Given the description of an element on the screen output the (x, y) to click on. 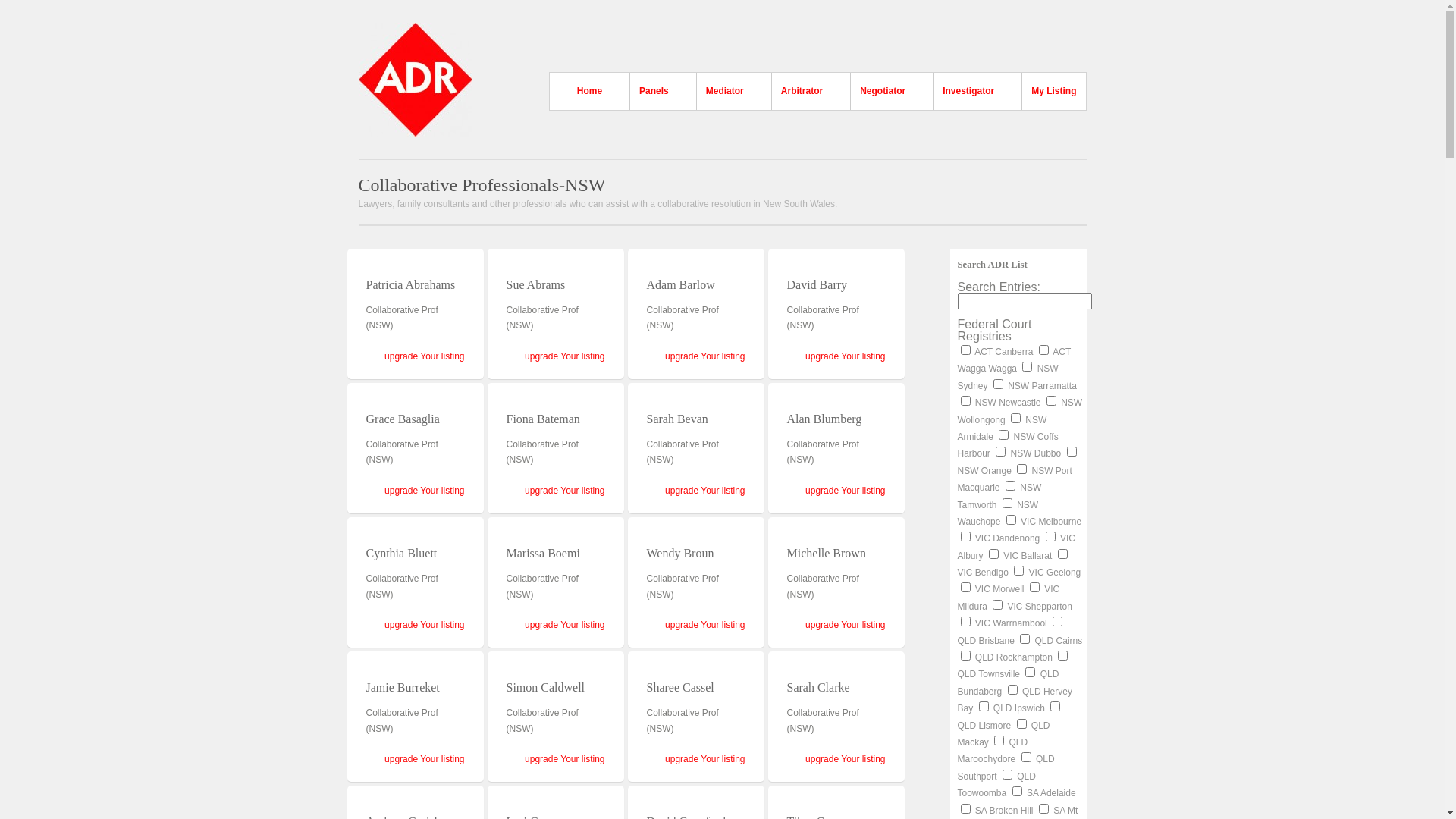
Grace Basaglia Element type: text (402, 418)
Mediator Element type: text (724, 90)
Wendy Broun Element type: text (679, 552)
Panels Element type: text (653, 90)
Adam Barlow Element type: text (680, 284)
upgrade Your listing Element type: text (424, 356)
upgrade Your listing Element type: text (564, 490)
upgrade Your listing Element type: text (564, 624)
Sarah Clarke Element type: text (818, 686)
Simon Caldwell Element type: text (545, 686)
Jamie Burreket Element type: text (402, 686)
upgrade Your listing Element type: text (564, 356)
Cynthia Bluett Element type: text (400, 552)
upgrade Your listing Element type: text (844, 490)
Fiona Bateman Element type: text (543, 418)
upgrade Your listing Element type: text (704, 356)
My Listing Element type: text (1053, 90)
upgrade Your listing Element type: text (704, 758)
Sharee Cassel Element type: text (679, 686)
upgrade Your listing Element type: text (704, 624)
Investigator Element type: text (967, 90)
upgrade Your listing Element type: text (844, 356)
Sarah Bevan Element type: text (676, 418)
Negotiator Element type: text (882, 90)
upgrade Your listing Element type: text (424, 490)
Patricia Abrahams Element type: text (410, 284)
upgrade Your listing Element type: text (844, 758)
Home Element type: text (589, 90)
Sue Abrams Element type: text (535, 284)
upgrade Your listing Element type: text (424, 758)
Michelle Brown Element type: text (826, 552)
upgrade Your listing Element type: text (704, 490)
upgrade Your listing Element type: text (564, 758)
upgrade Your listing Element type: text (844, 624)
upgrade Your listing Element type: text (424, 624)
Marissa Boemi Element type: text (543, 552)
Alan Blumberg Element type: text (824, 418)
David Barry Element type: text (817, 284)
Arbitrator Element type: text (801, 90)
